Given the description of an element on the screen output the (x, y) to click on. 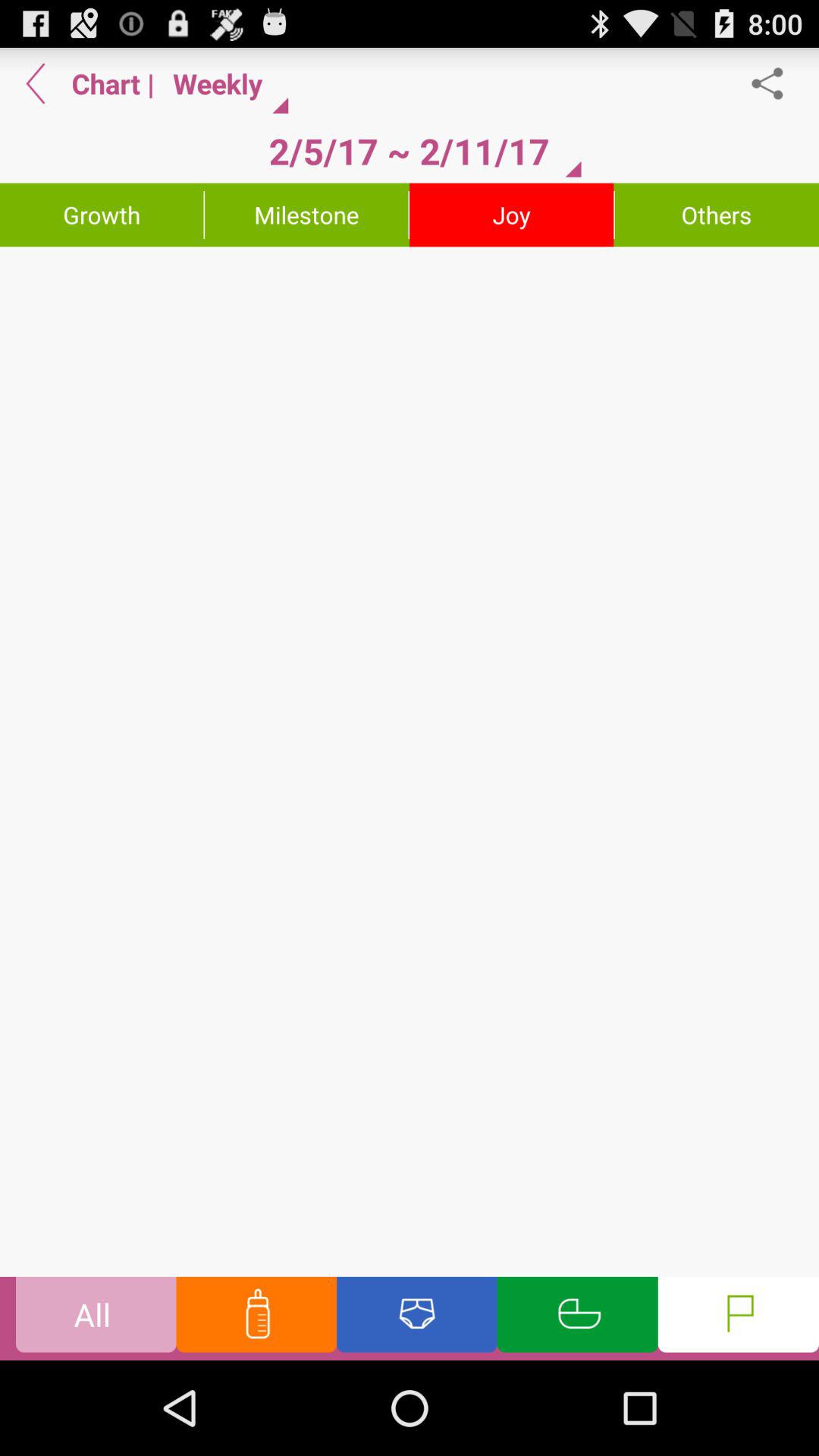
click the button above growth (35, 83)
